Given the description of an element on the screen output the (x, y) to click on. 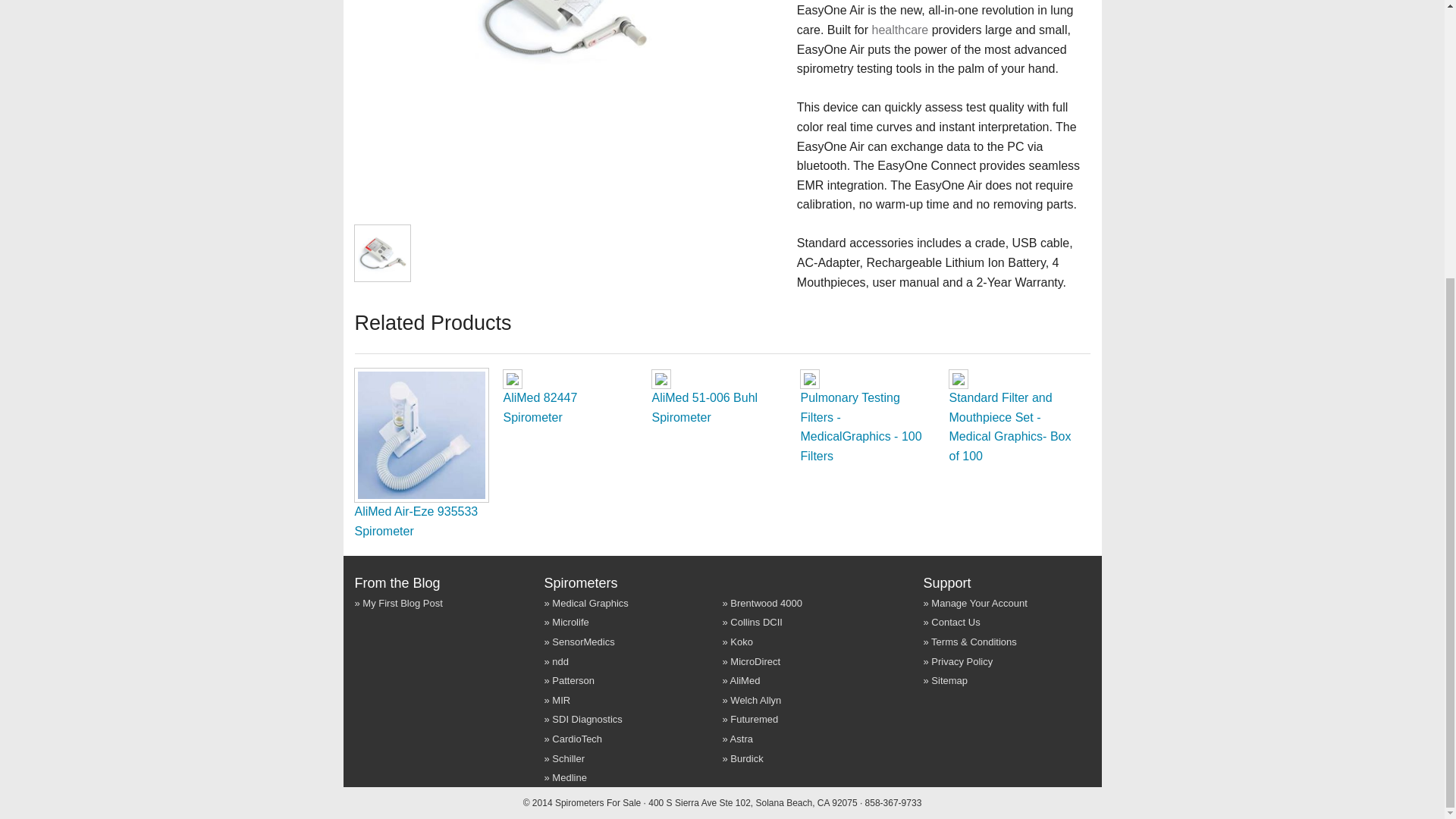
AliMed 51-006 Buhl Spirometer (705, 407)
Pulmonary Testing Filters - MedicalGraphics - 100 Filters (860, 426)
AliMed 82447 Spirometer (540, 407)
AliMed Air-Eze 935533 Spirometer (417, 521)
healthcare (900, 29)
